Given the description of an element on the screen output the (x, y) to click on. 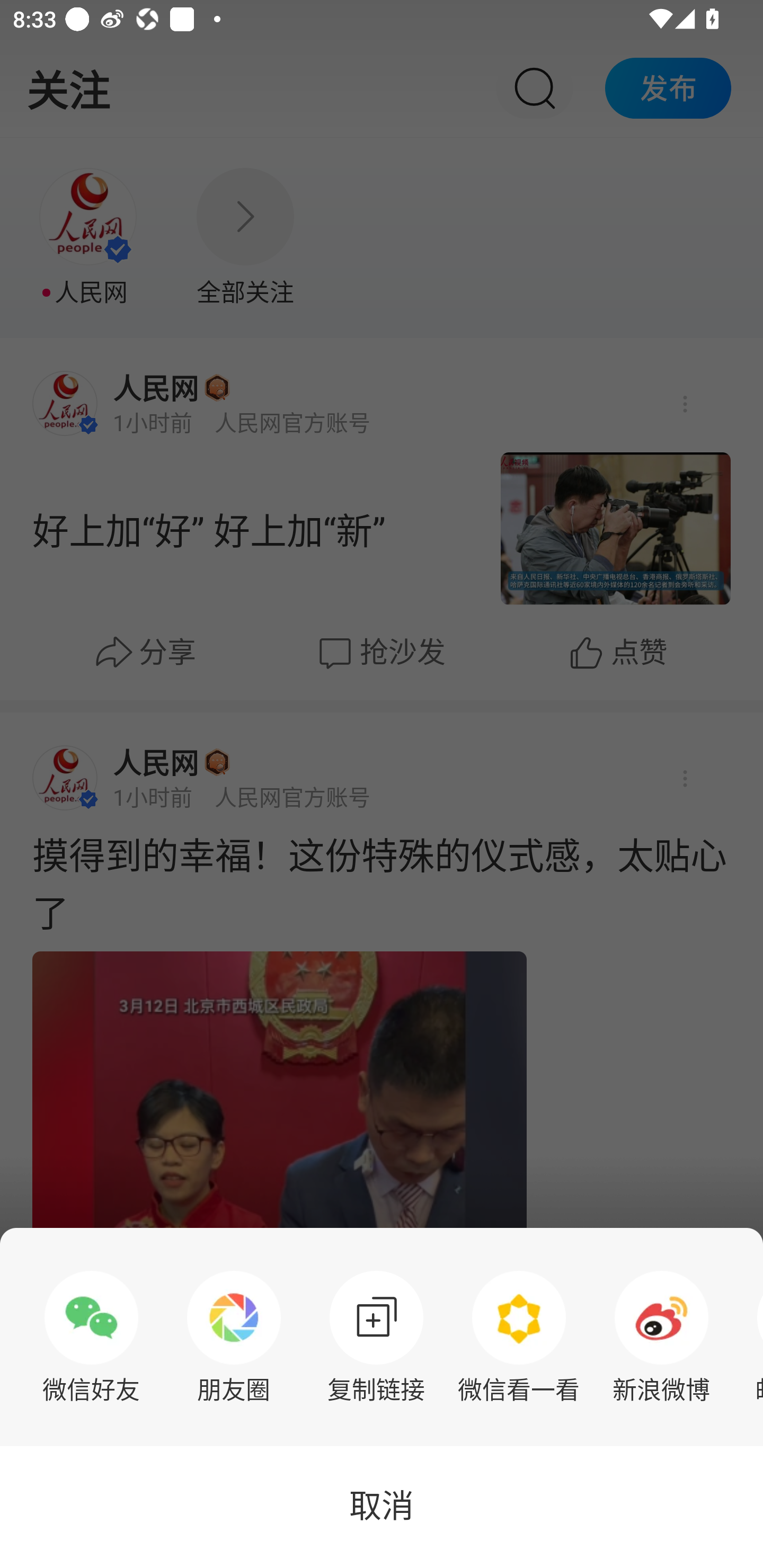
微信好友 (90, 1337)
朋友圈 (233, 1337)
 复制链接 复制链接 (376, 1337)
微信看一看 (518, 1337)
新浪微博 (661, 1337)
取消 (381, 1506)
